Given the description of an element on the screen output the (x, y) to click on. 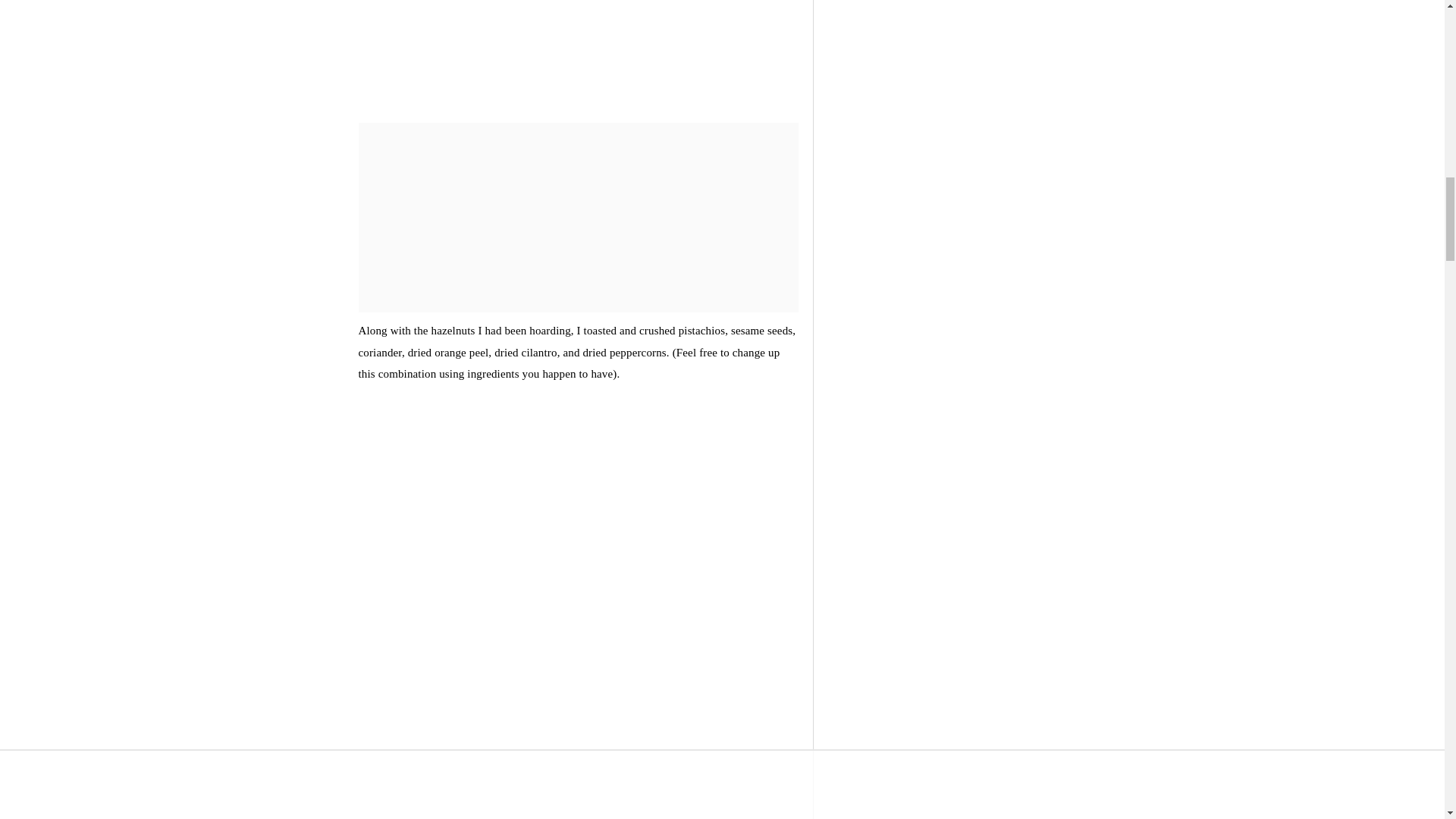
Dukkah Spiced Yogurt Dip (577, 791)
Dukkah Spiced Yogurt Dip (577, 48)
